Given the description of an element on the screen output the (x, y) to click on. 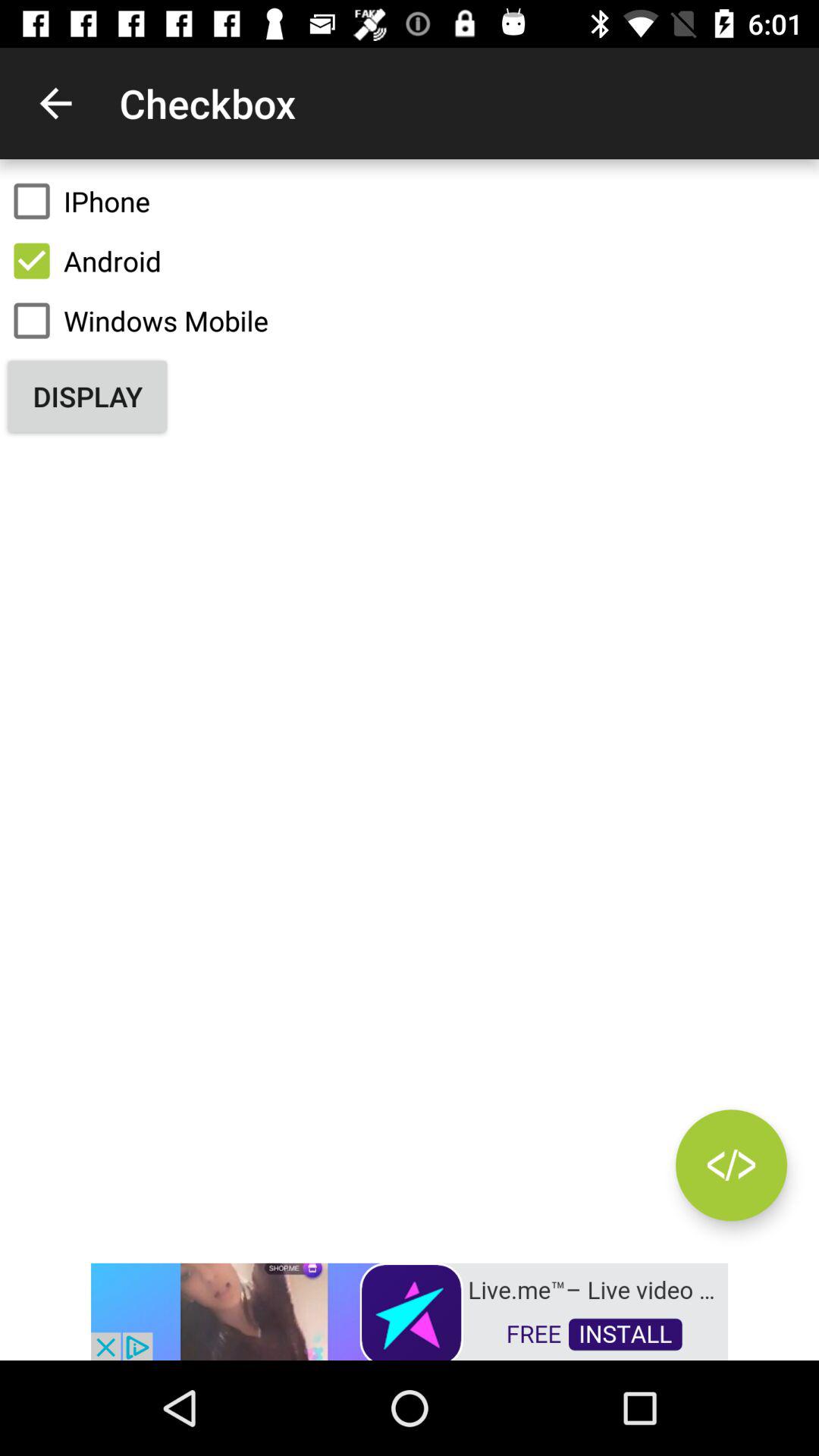
click to move forward or backward (731, 1165)
